Given the description of an element on the screen output the (x, y) to click on. 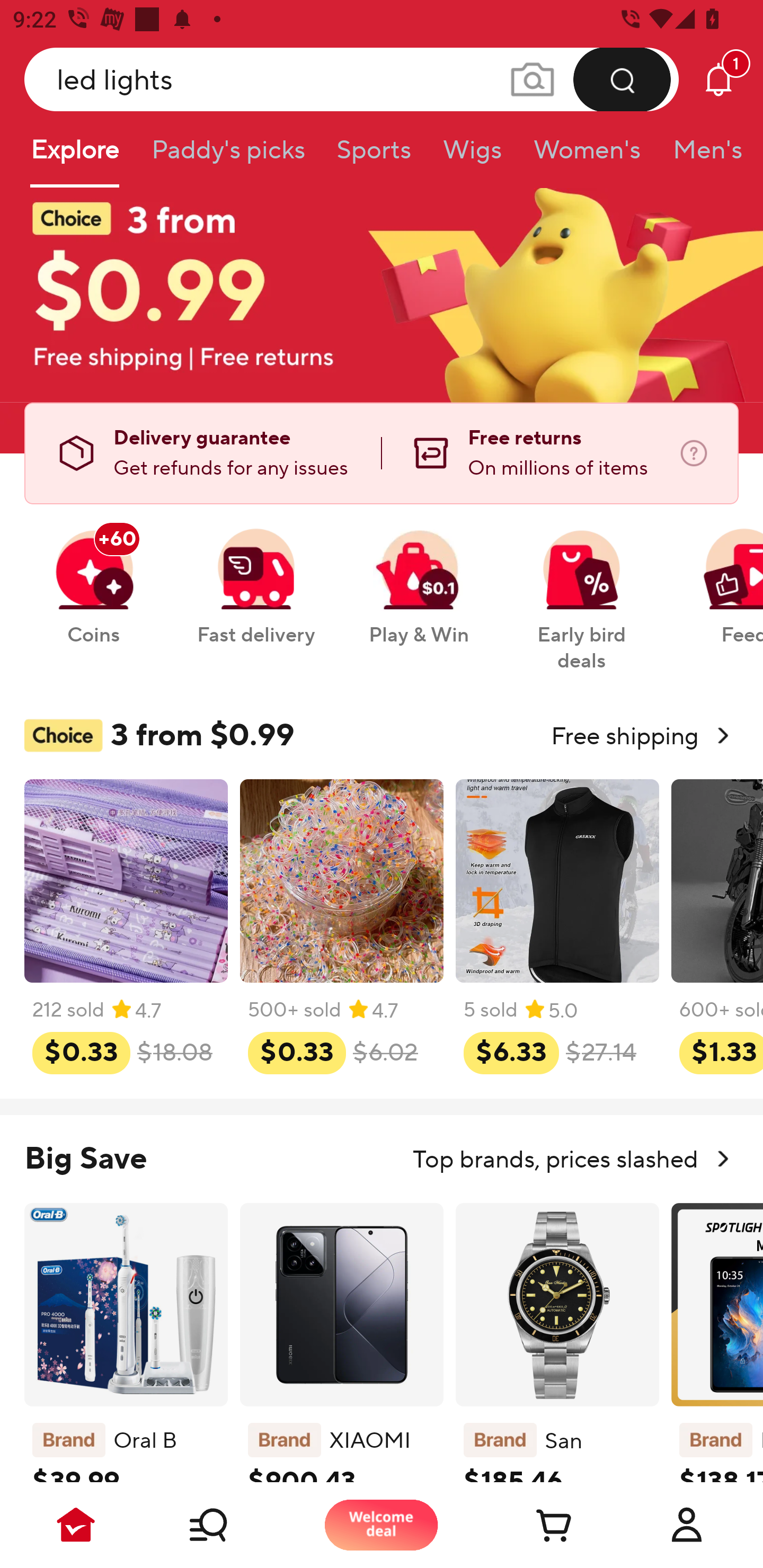
led lights (351, 79)
Paddy's picks (227, 155)
Sports (373, 155)
Wigs (472, 155)
Women's (586, 155)
Men's (701, 155)
Coinsbutton +60 Coins (93, 576)
Fast deliverybutton Fast delivery (255, 576)
Play & Winbutton Play & Win (418, 576)
Early bird dealsbutton Early bird deals (581, 589)
Feedbutton Feed (719, 576)
Shop (228, 1524)
Cart (533, 1524)
Account (686, 1524)
